Given the description of an element on the screen output the (x, y) to click on. 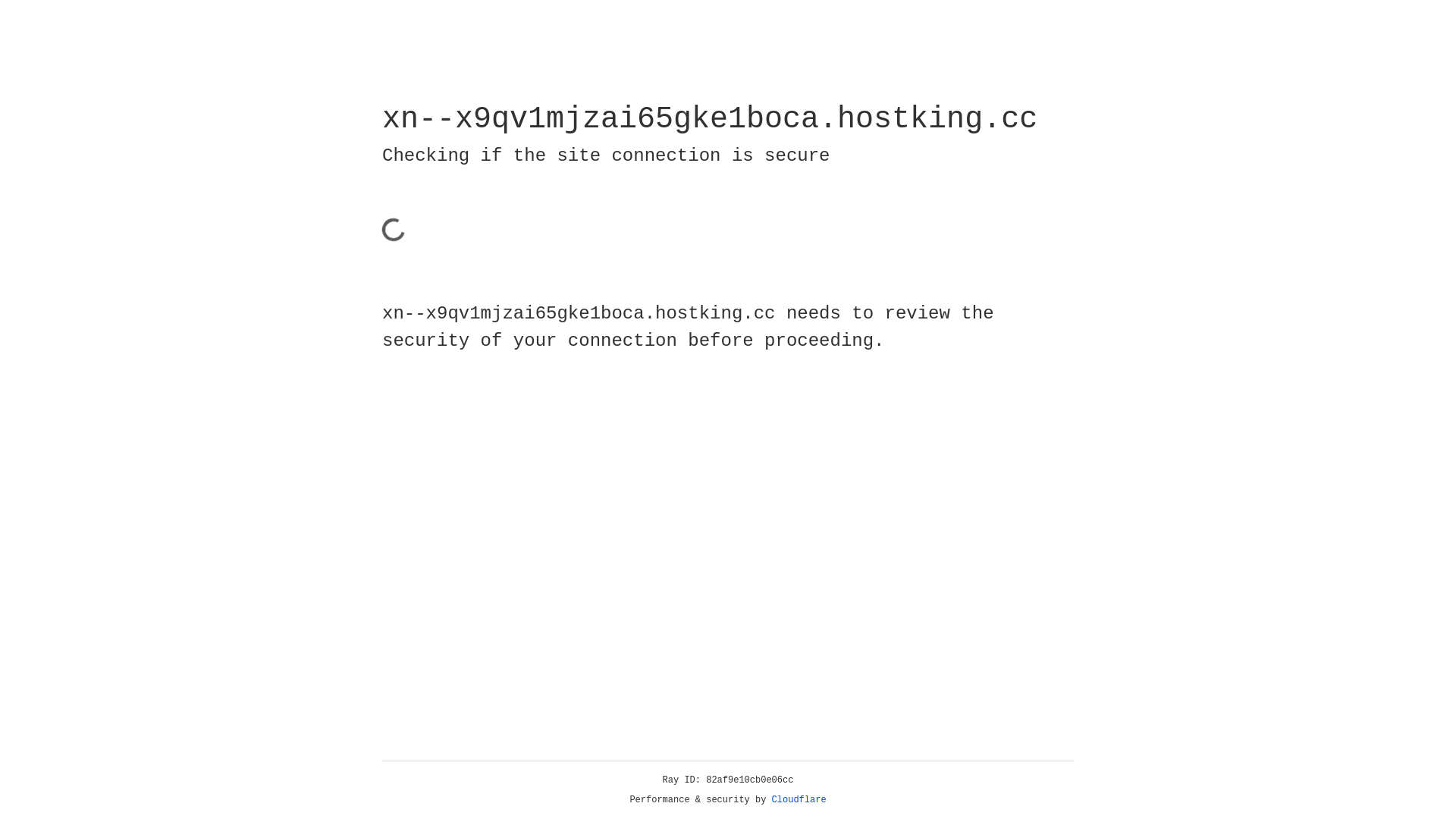
Cloudflare Element type: text (798, 799)
